Given the description of an element on the screen output the (x, y) to click on. 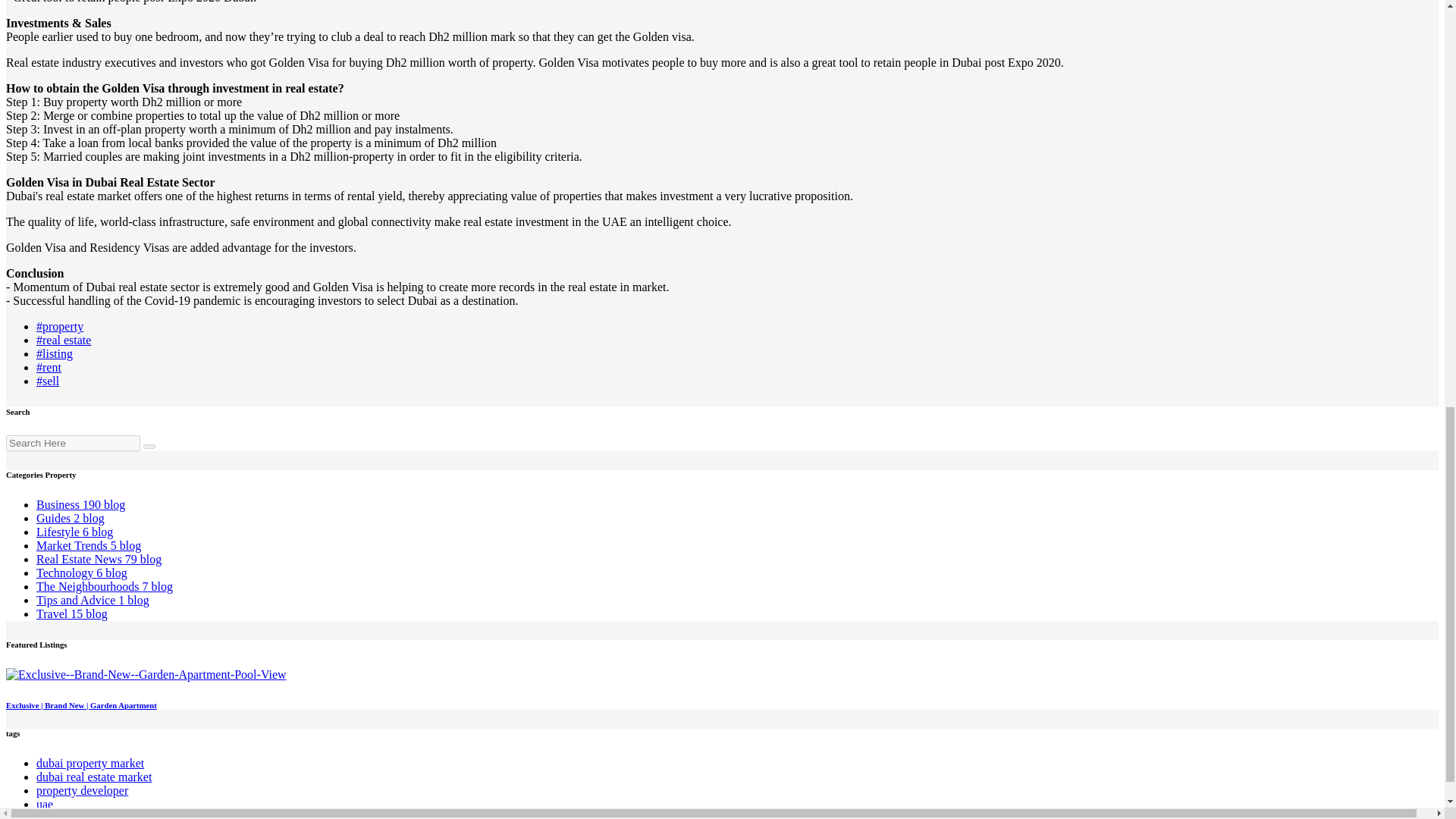
Real Estate News 79 blog (98, 558)
Travel 15 blog (71, 613)
Lifestyle 6 blog (74, 531)
Technology 6 blog (82, 572)
The Neighbourhoods 7 blog (104, 585)
Business 190 blog (80, 504)
Market Trends 5 blog (88, 545)
Tips and Advice 1 blog (92, 599)
Guides 2 blog (70, 517)
